Given the description of an element on the screen output the (x, y) to click on. 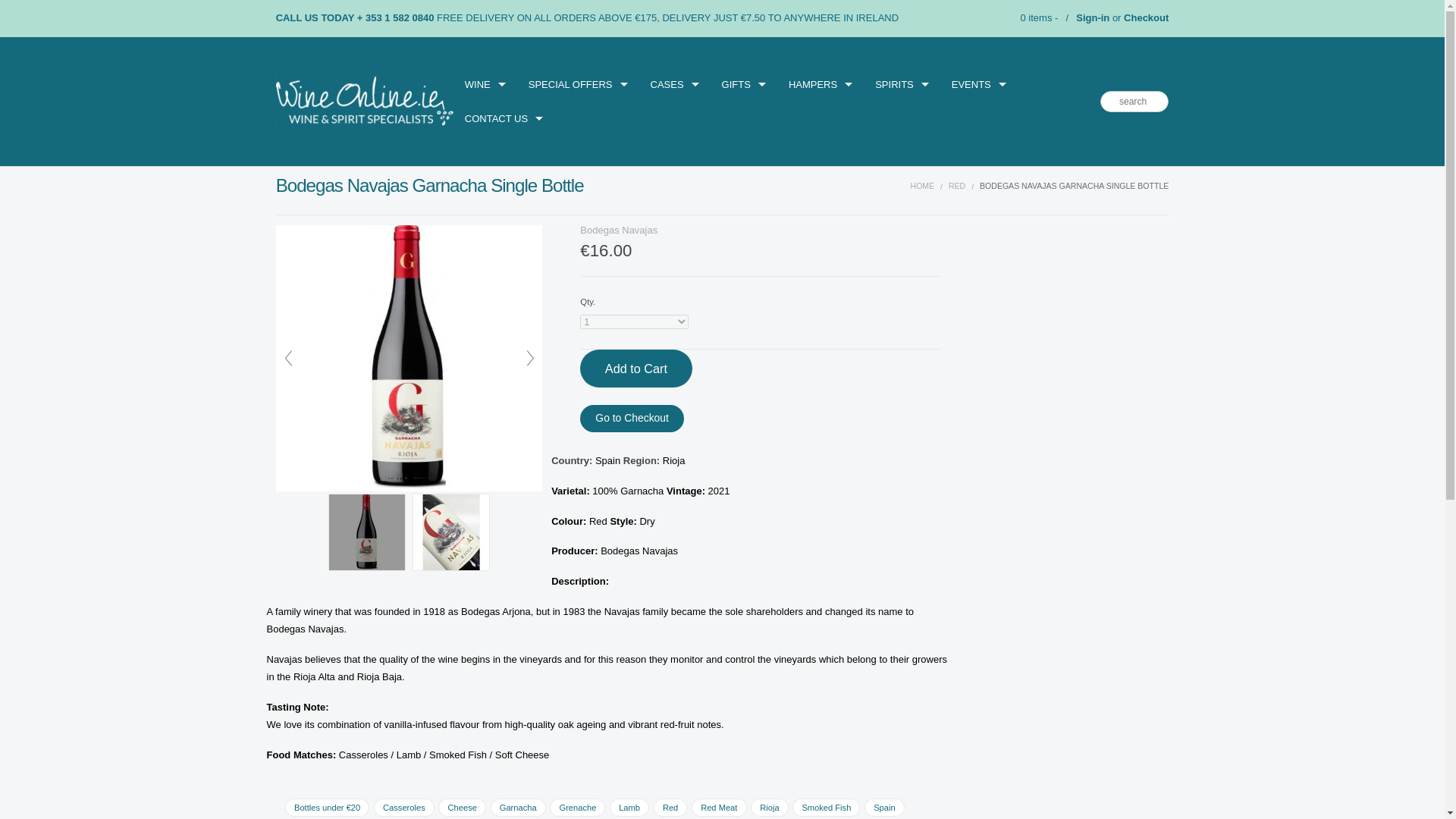
Red (957, 185)
Bodegas Navajas Garnacha Single Bottle (366, 532)
0 items - (1037, 17)
Bodegas Navajas Garnacha Single Bottle (408, 357)
Bodegas Navajas (618, 229)
Checkout (1146, 17)
Bodegas Navajas Garnacha Single Bottle (451, 532)
WINE (484, 84)
Sign-in (1092, 17)
WineOnline (364, 101)
